Given the description of an element on the screen output the (x, y) to click on. 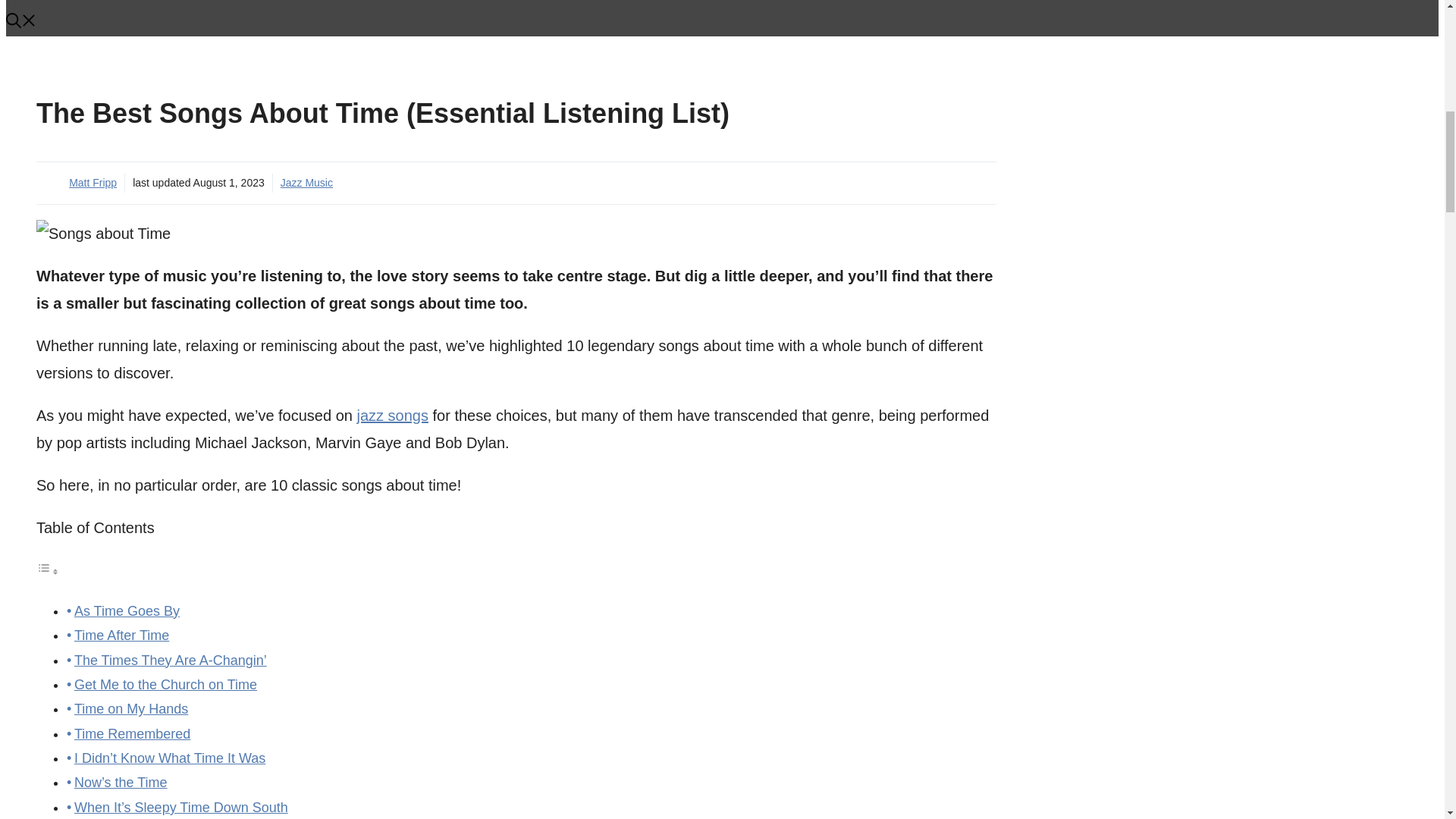
Jazz Music (307, 182)
Matt Fripp (92, 182)
Get Me to the Church on Time (165, 684)
Time on My Hands (130, 708)
As Time Goes By (126, 611)
Get Me to the Church on Time (165, 684)
As Time Goes By (126, 611)
Time on My Hands (130, 708)
Time Remembered (132, 734)
Time After Time (121, 635)
